Given the description of an element on the screen output the (x, y) to click on. 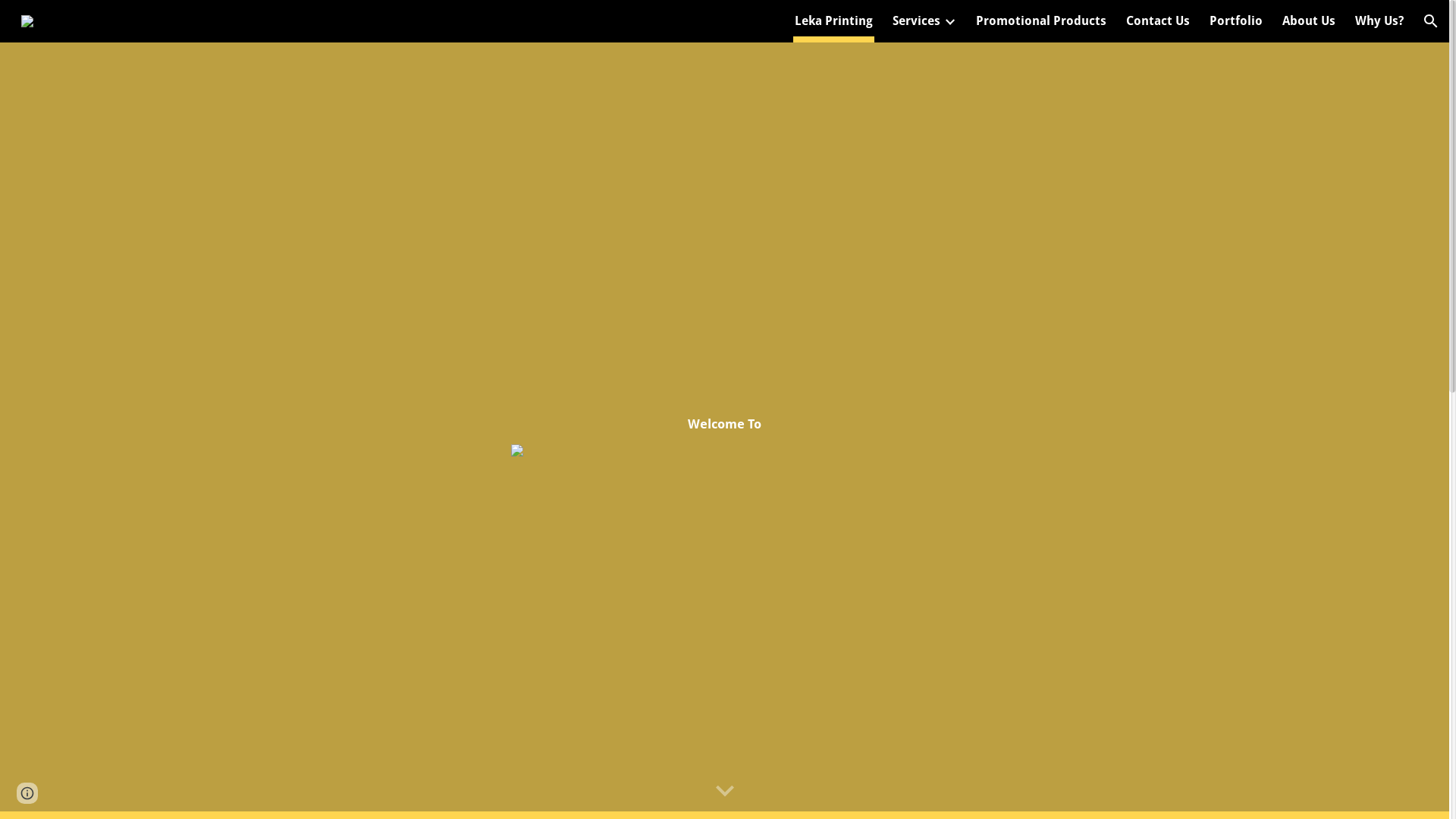
Expand/Collapse Element type: hover (949, 20)
Promotional Products Element type: text (1040, 20)
Services Element type: text (916, 20)
Why Us? Element type: text (1379, 20)
Portfolio Element type: text (1235, 20)
About Us Element type: text (1308, 20)
Leka Printing Element type: text (833, 20)
Contact Us Element type: text (1157, 20)
